Given the description of an element on the screen output the (x, y) to click on. 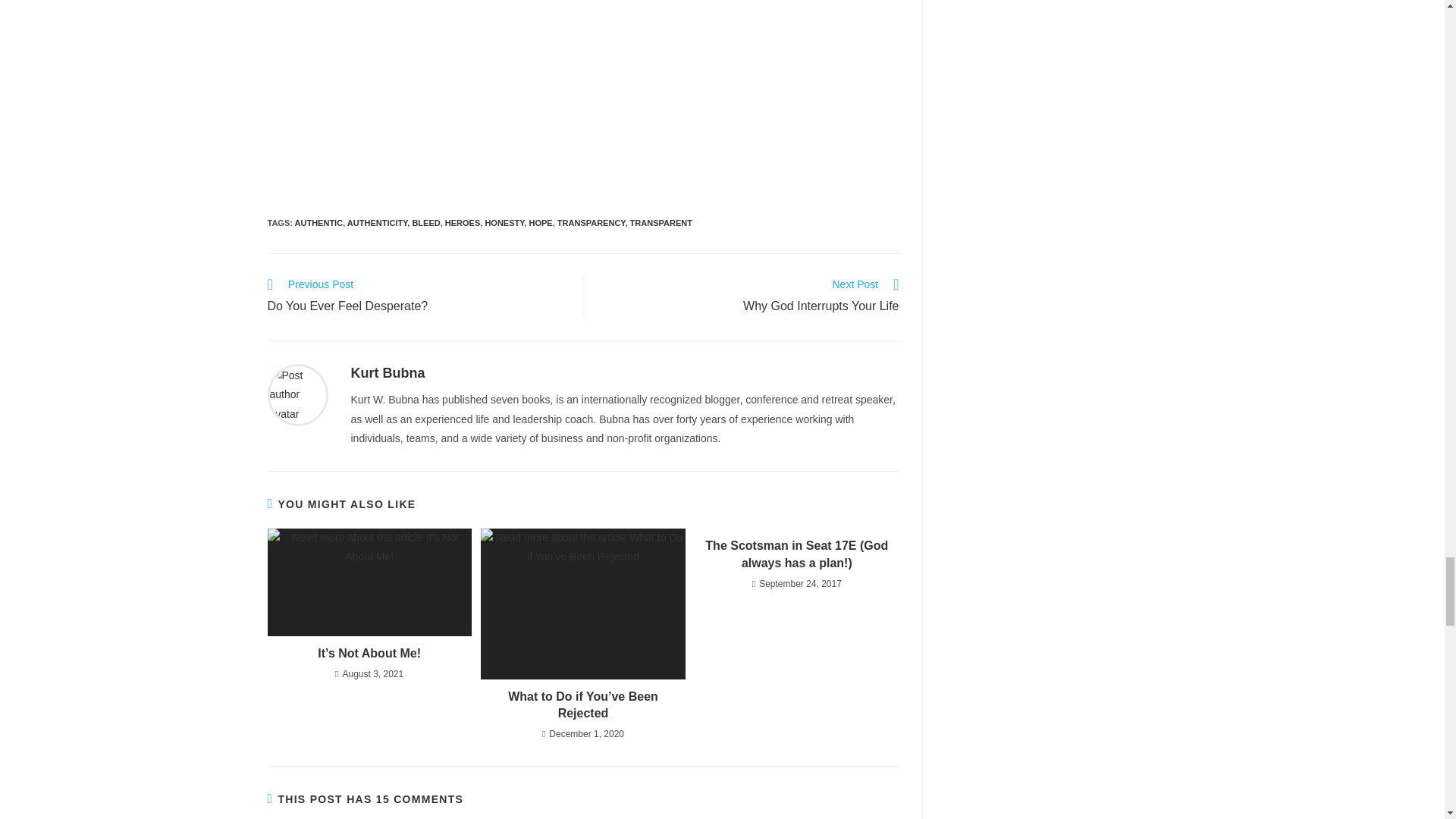
HOPE (748, 296)
Visit author page (416, 296)
AUTHENTIC (541, 222)
TRANSPARENT (387, 372)
TRANSPARENCY (319, 222)
HONESTY (661, 222)
Visit author page (591, 222)
AUTHENTICITY (504, 222)
